Given the description of an element on the screen output the (x, y) to click on. 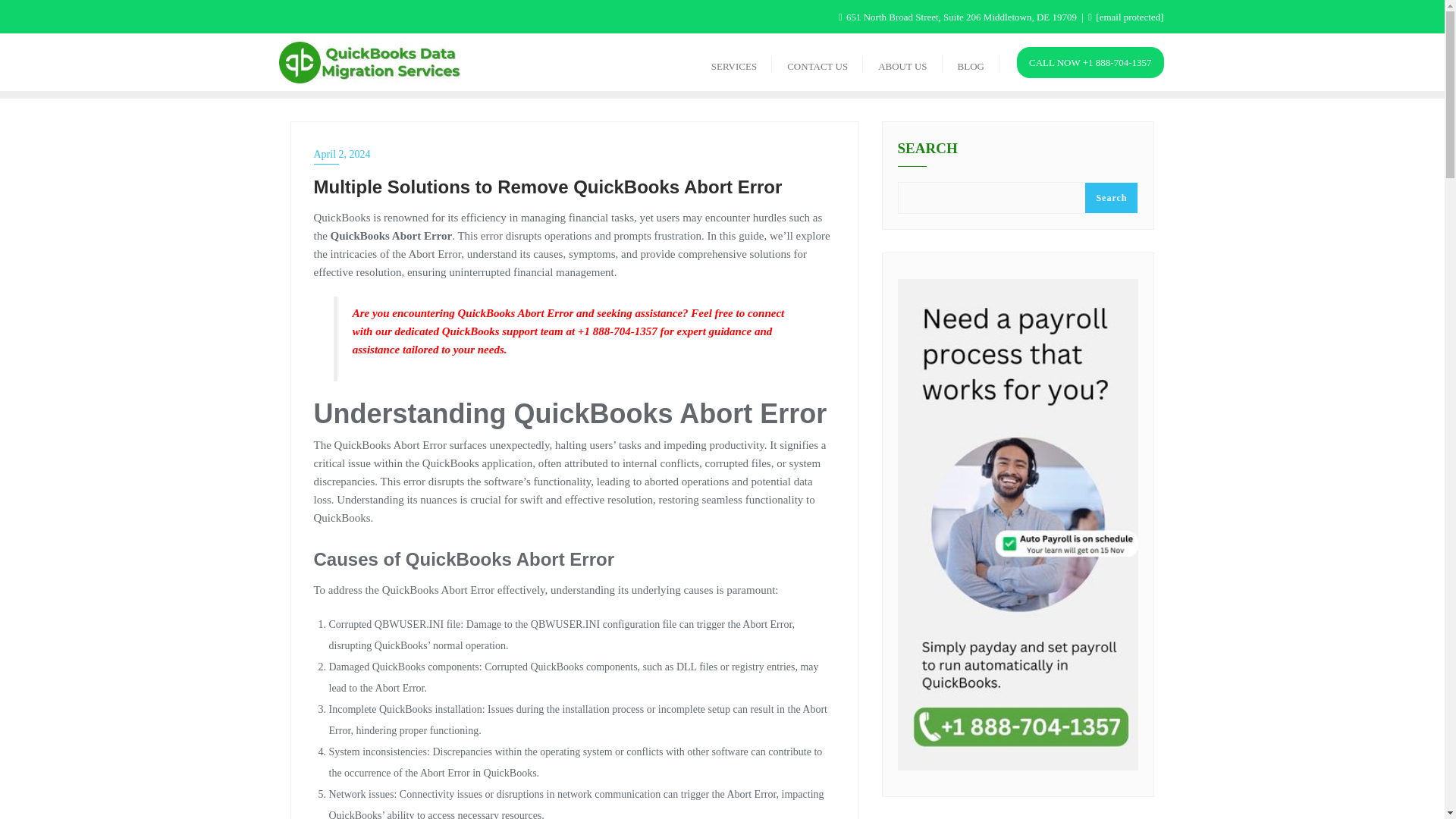
Search (1110, 197)
ABOUT US (902, 61)
April 2, 2024 (574, 153)
SERVICES (733, 61)
BLOG (970, 61)
CONTACT US (817, 61)
